Given the description of an element on the screen output the (x, y) to click on. 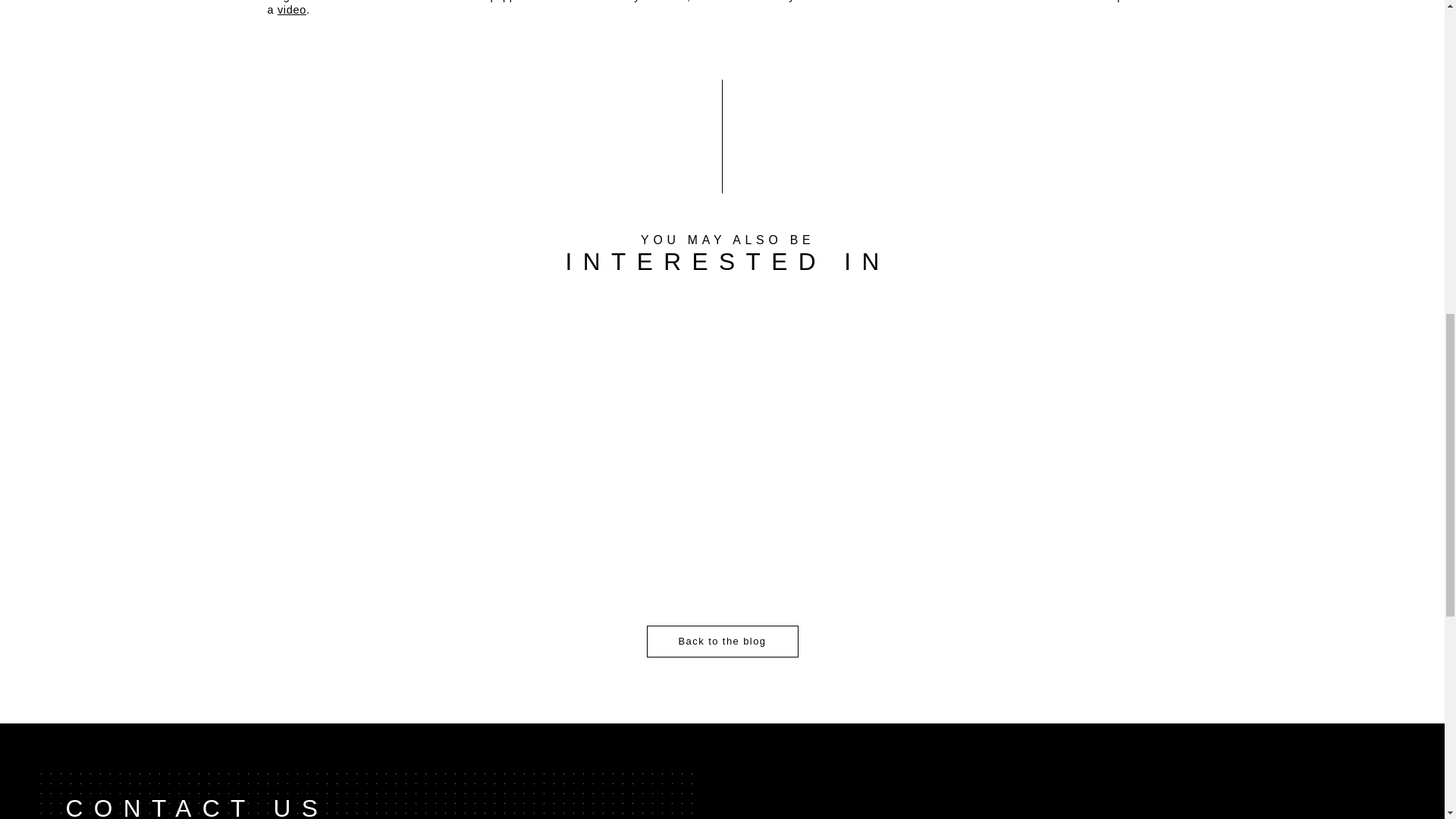
Go up (722, 15)
video (291, 9)
Back to the blog (721, 641)
